Given the description of an element on the screen output the (x, y) to click on. 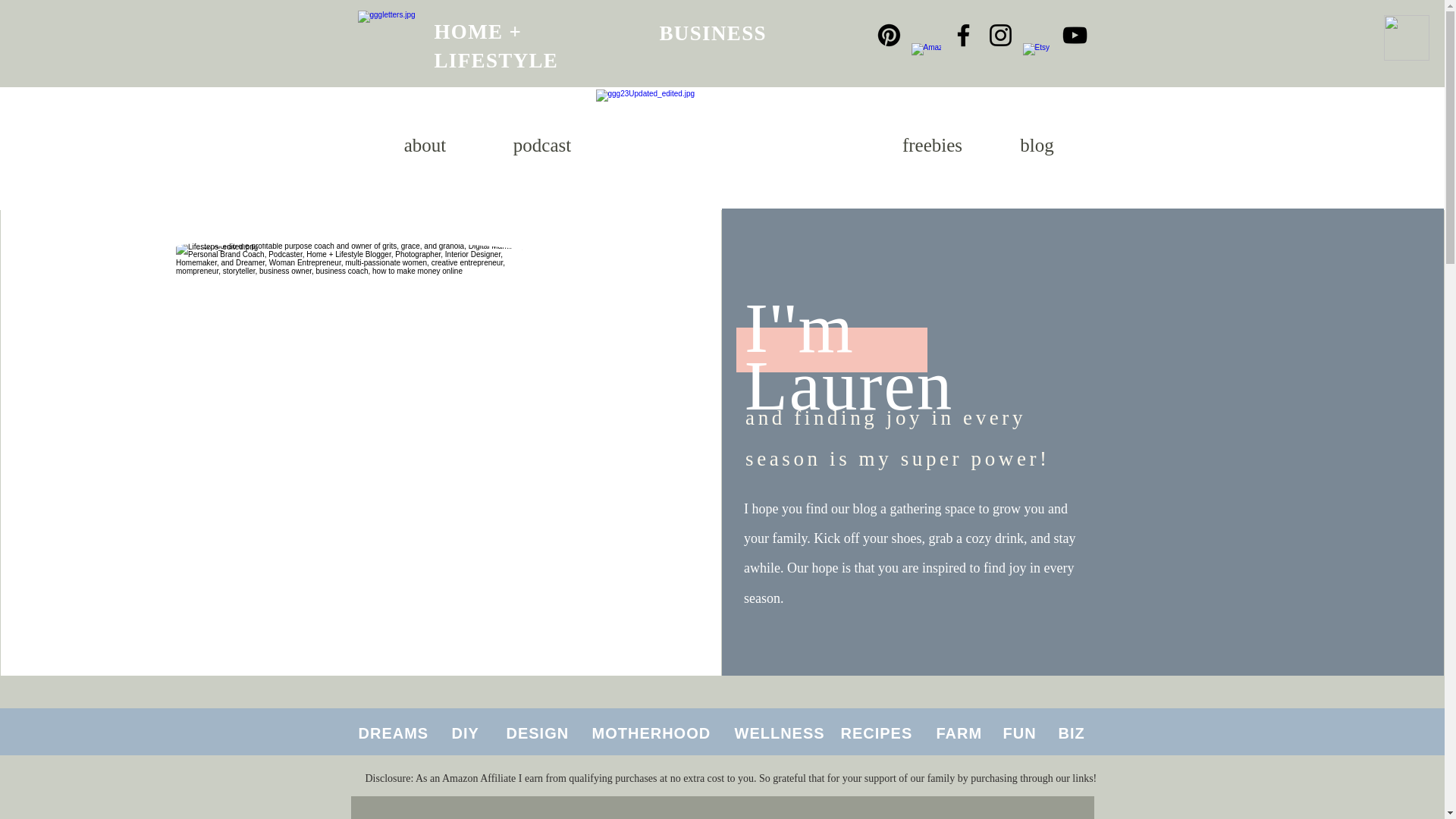
BUSINESS (713, 33)
WELLNESS (778, 733)
DIY (465, 733)
BIZ (1071, 733)
blog (1036, 145)
DREAMS (393, 733)
DESIGN (537, 733)
podcast (541, 145)
RECIPES (876, 733)
about (425, 145)
